Given the description of an element on the screen output the (x, y) to click on. 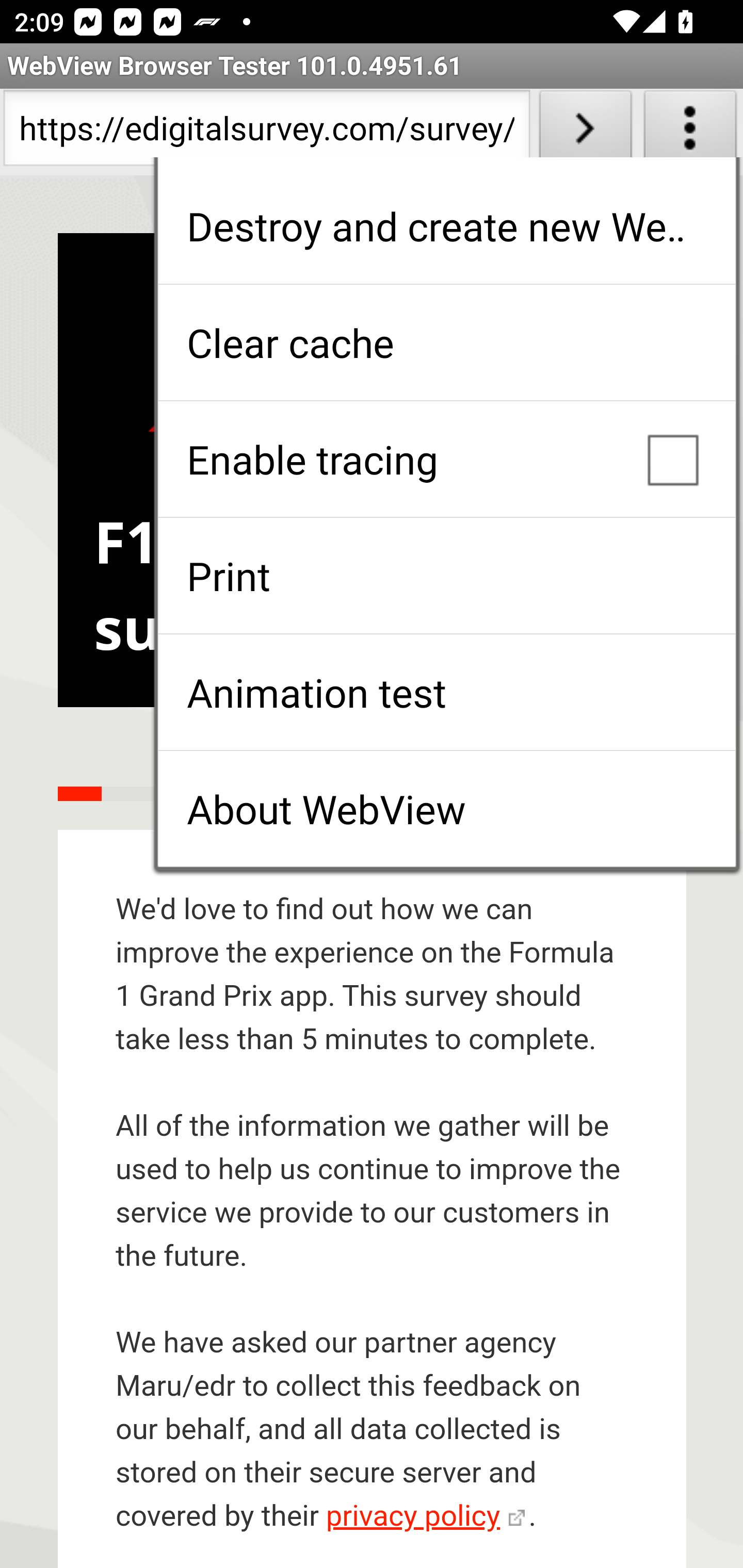
Destroy and create new WebView (446, 225)
Clear cache (446, 342)
Enable tracing (446, 459)
Print (446, 575)
Animation test (446, 692)
About WebView (446, 809)
